Given the description of an element on the screen output the (x, y) to click on. 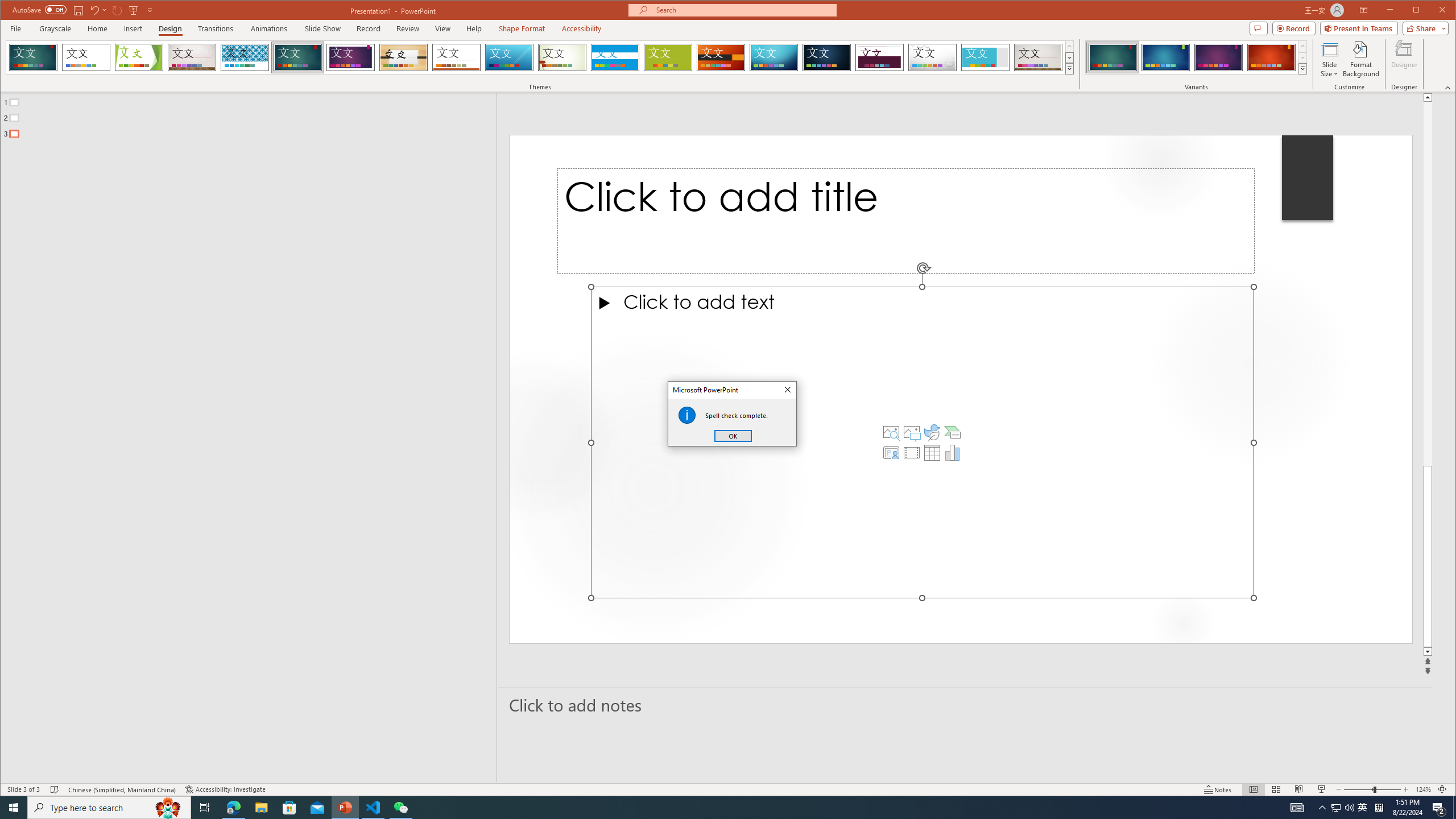
Insert an Icon (931, 432)
Ion Boardroom (350, 57)
Ion Variant 3 (1218, 57)
